Given the description of an element on the screen output the (x, y) to click on. 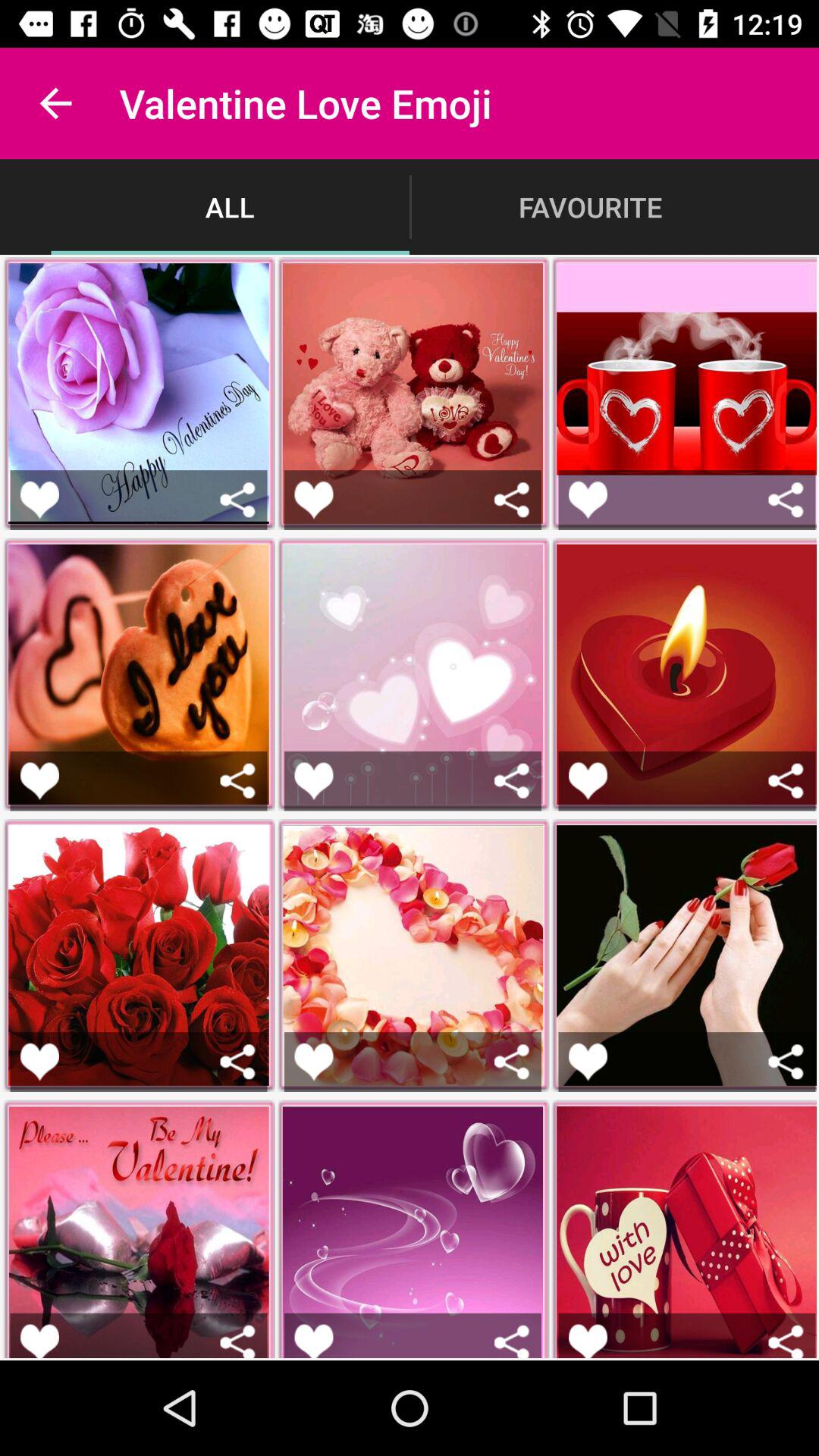
favorite the emoji (313, 1061)
